Given the description of an element on the screen output the (x, y) to click on. 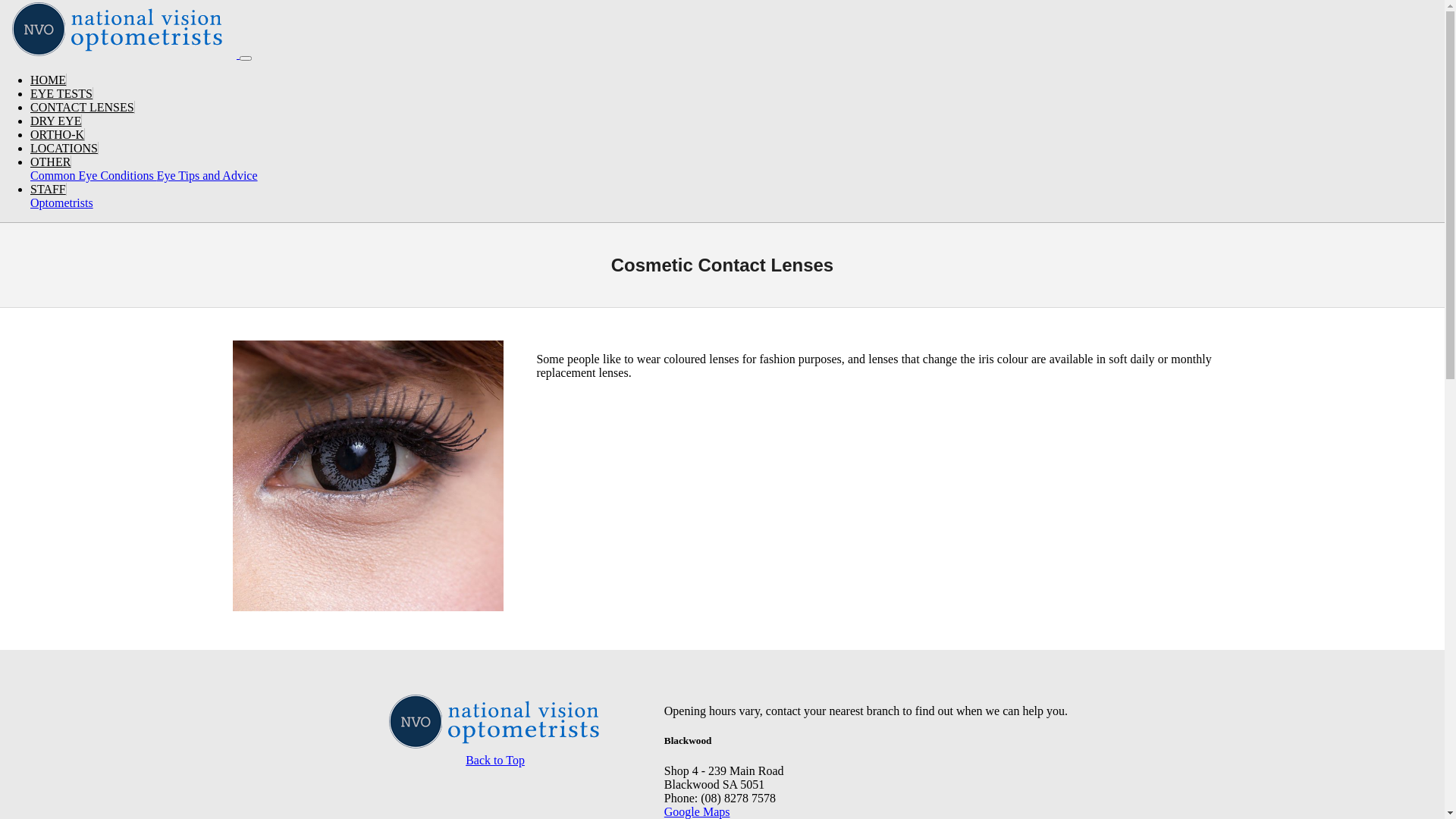
Eye Tips and Advice Element type: text (206, 175)
CONTACT LENSES Element type: text (82, 106)
Back to Top Element type: text (494, 759)
DRY EYE Element type: text (55, 120)
Optometrists Element type: text (61, 202)
LOCATIONS Element type: text (64, 147)
HOME Element type: text (48, 79)
STAFF Element type: text (48, 188)
OTHER Element type: text (50, 161)
EYE TESTS Element type: text (61, 93)
Google Maps Element type: text (697, 811)
Common Eye Conditions Element type: text (93, 175)
ORTHO-K Element type: text (57, 134)
